Given the description of an element on the screen output the (x, y) to click on. 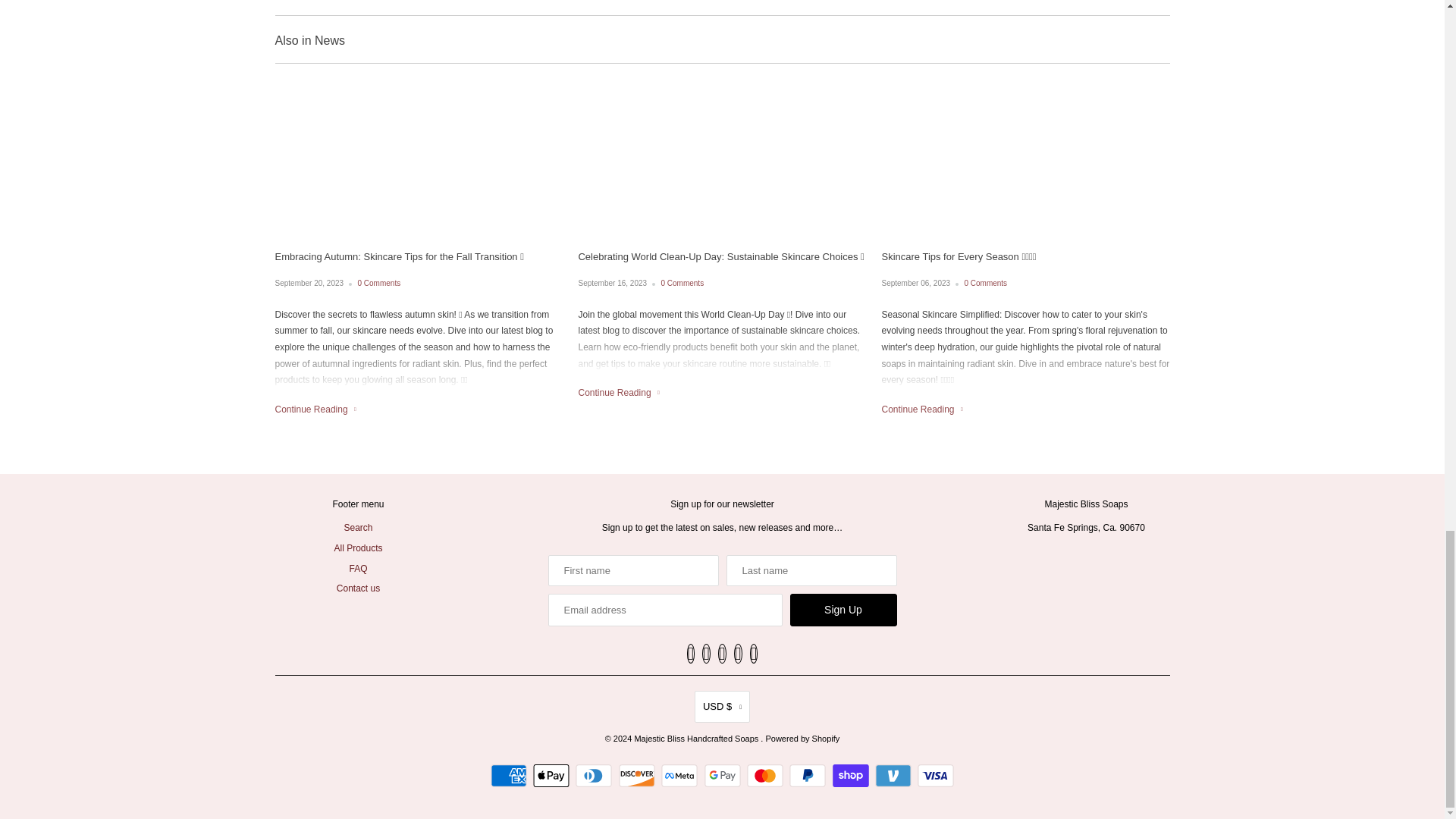
Meta Pay (681, 775)
Diners Club (595, 775)
Apple Pay (552, 775)
Mastercard (766, 775)
Discover (638, 775)
Shop Pay (852, 775)
PayPal (809, 775)
Visa (935, 775)
Venmo (895, 775)
American Express (510, 775)
Sign Up (843, 609)
Google Pay (723, 775)
